Given the description of an element on the screen output the (x, y) to click on. 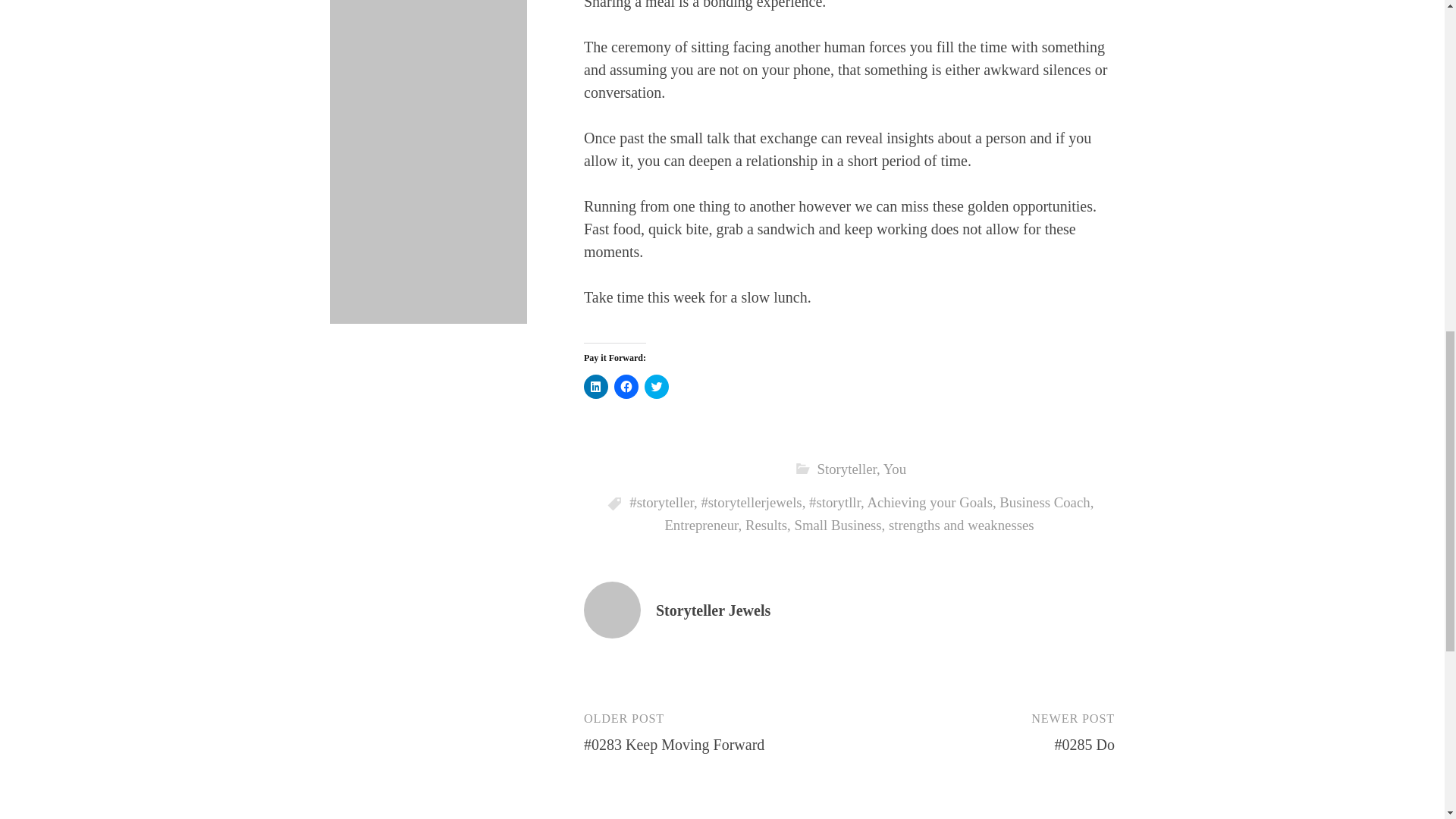
Click to share on Facebook (626, 386)
Entrepreneur (700, 524)
Storyteller Jewels (713, 610)
Click to share on LinkedIn (595, 386)
Storyteller (846, 468)
Business Coach (1043, 502)
strengths and weaknesses (960, 524)
Results (766, 524)
Click to share on Twitter (656, 386)
Small Business (836, 524)
